Given the description of an element on the screen output the (x, y) to click on. 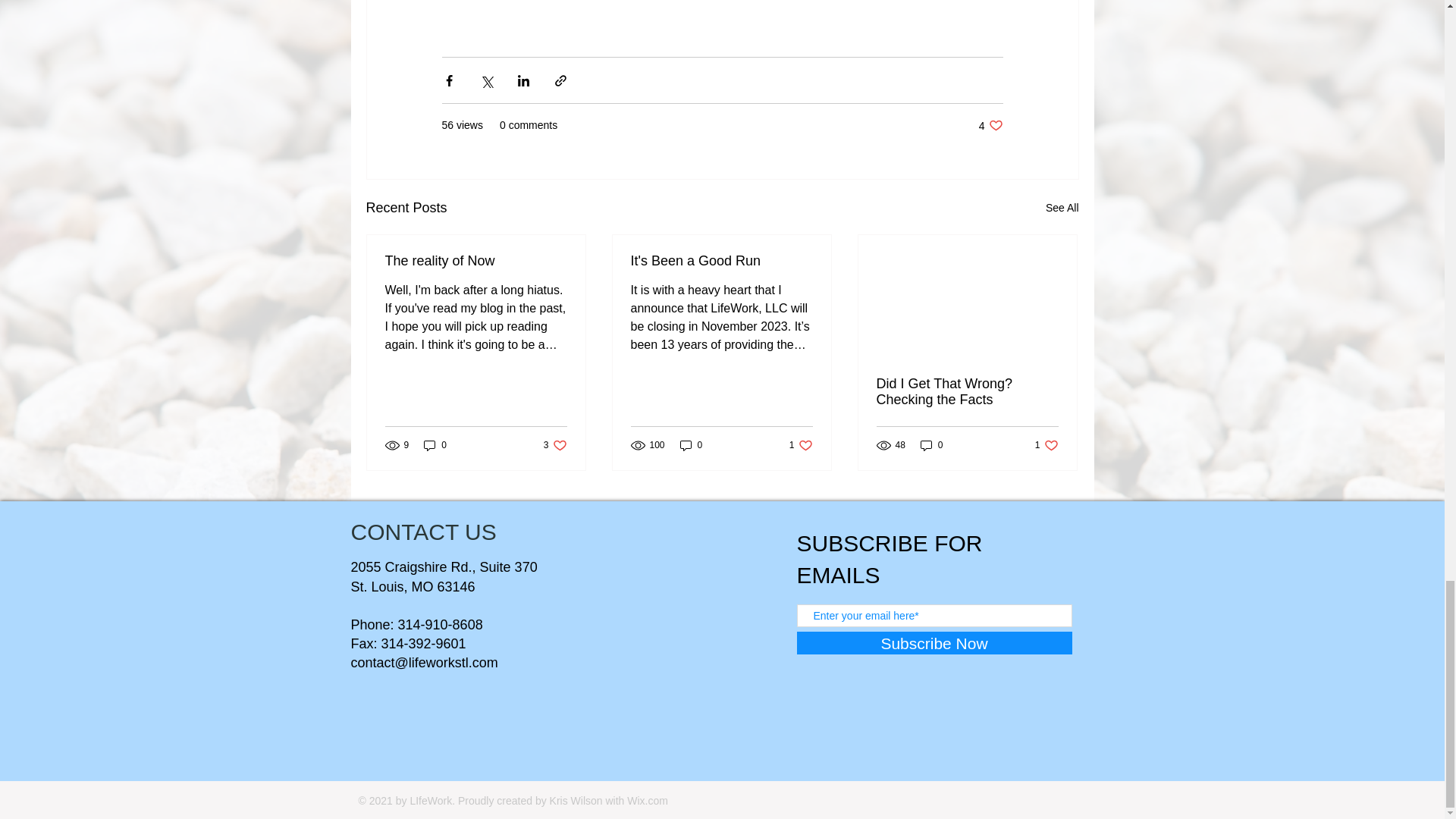
It's Been a Good Run (721, 261)
0 (555, 445)
Did I Get That Wrong? Checking the Facts (931, 445)
The reality of Now (967, 391)
0 (990, 124)
0 (1046, 445)
See All (476, 261)
